Given the description of an element on the screen output the (x, y) to click on. 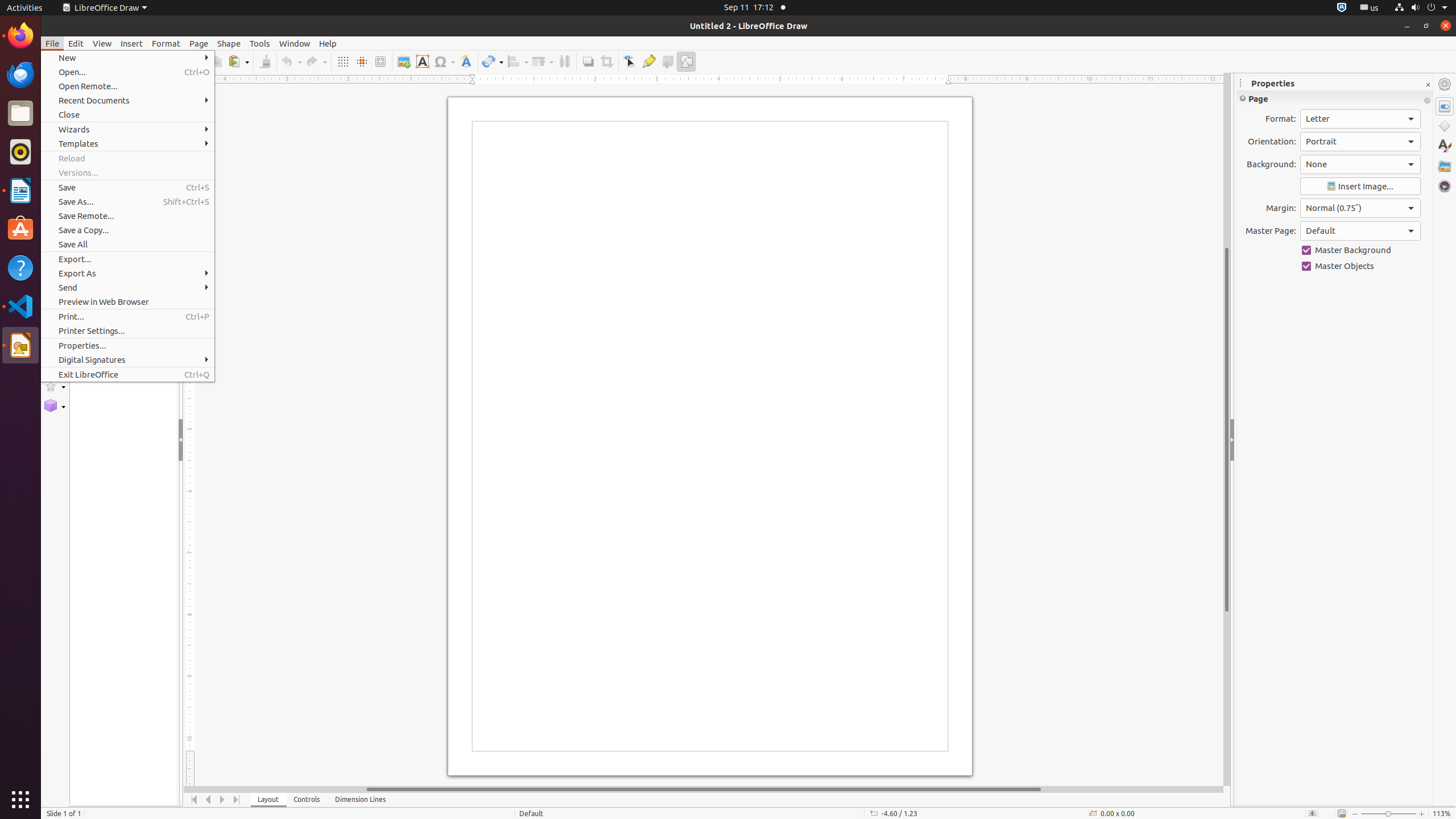
Save Remote... Element type: menu-item (127, 215)
Format: Element type: combo-box (1360, 118)
Text Box Element type: push-button (421, 61)
Symbol Element type: push-button (443, 61)
Reload Element type: menu-item (127, 158)
